Given the description of an element on the screen output the (x, y) to click on. 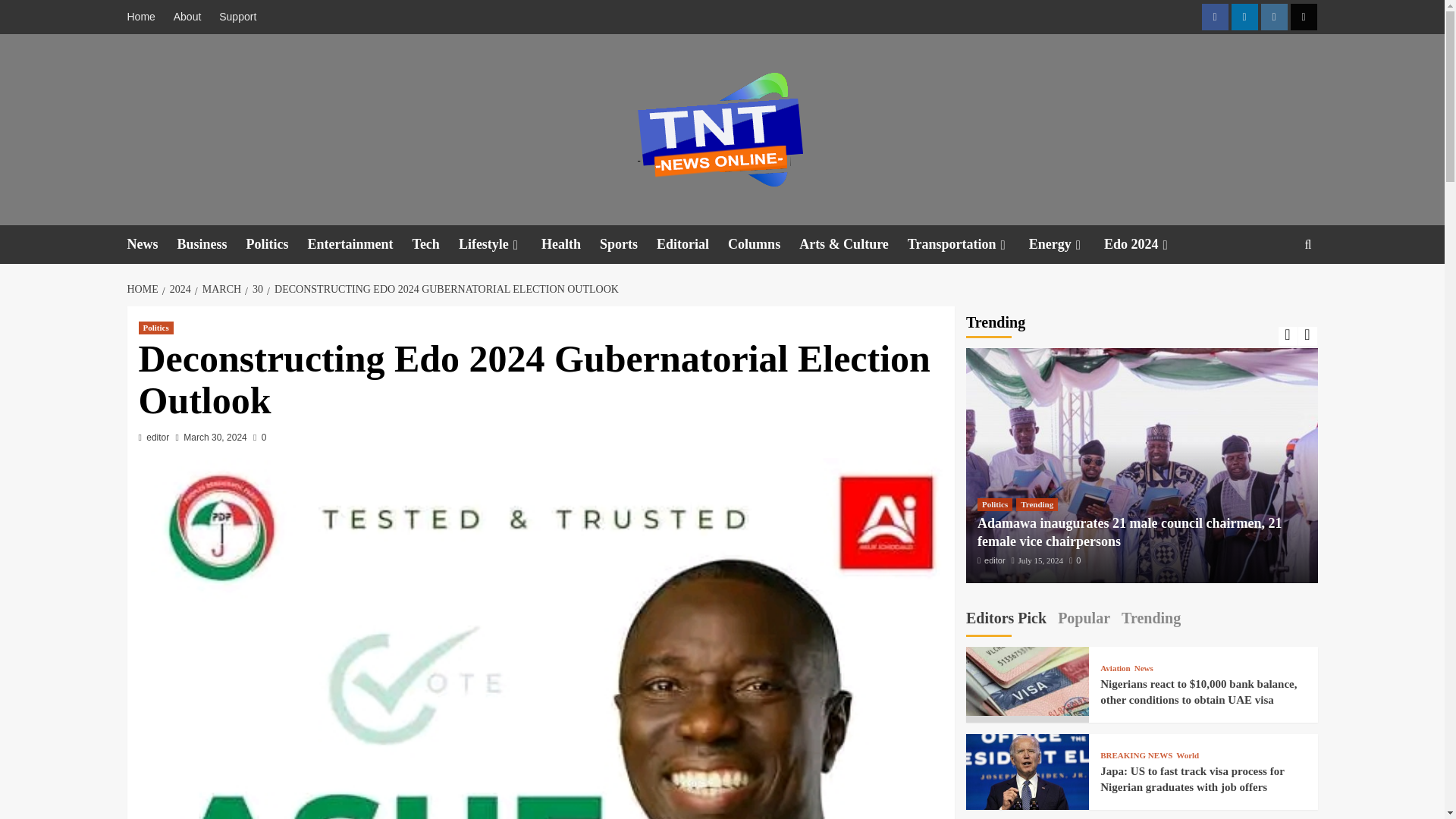
Linkedin (1244, 17)
Editorial (692, 244)
Sports (627, 244)
Columns (763, 244)
Entertainment (359, 244)
Edo 2024 (1147, 244)
Facebook (1214, 17)
Lifestyle (499, 244)
Transportation (968, 244)
News (152, 244)
Support (237, 17)
About (187, 17)
Twitter (1303, 17)
Home (145, 17)
Energy (1066, 244)
